Given the description of an element on the screen output the (x, y) to click on. 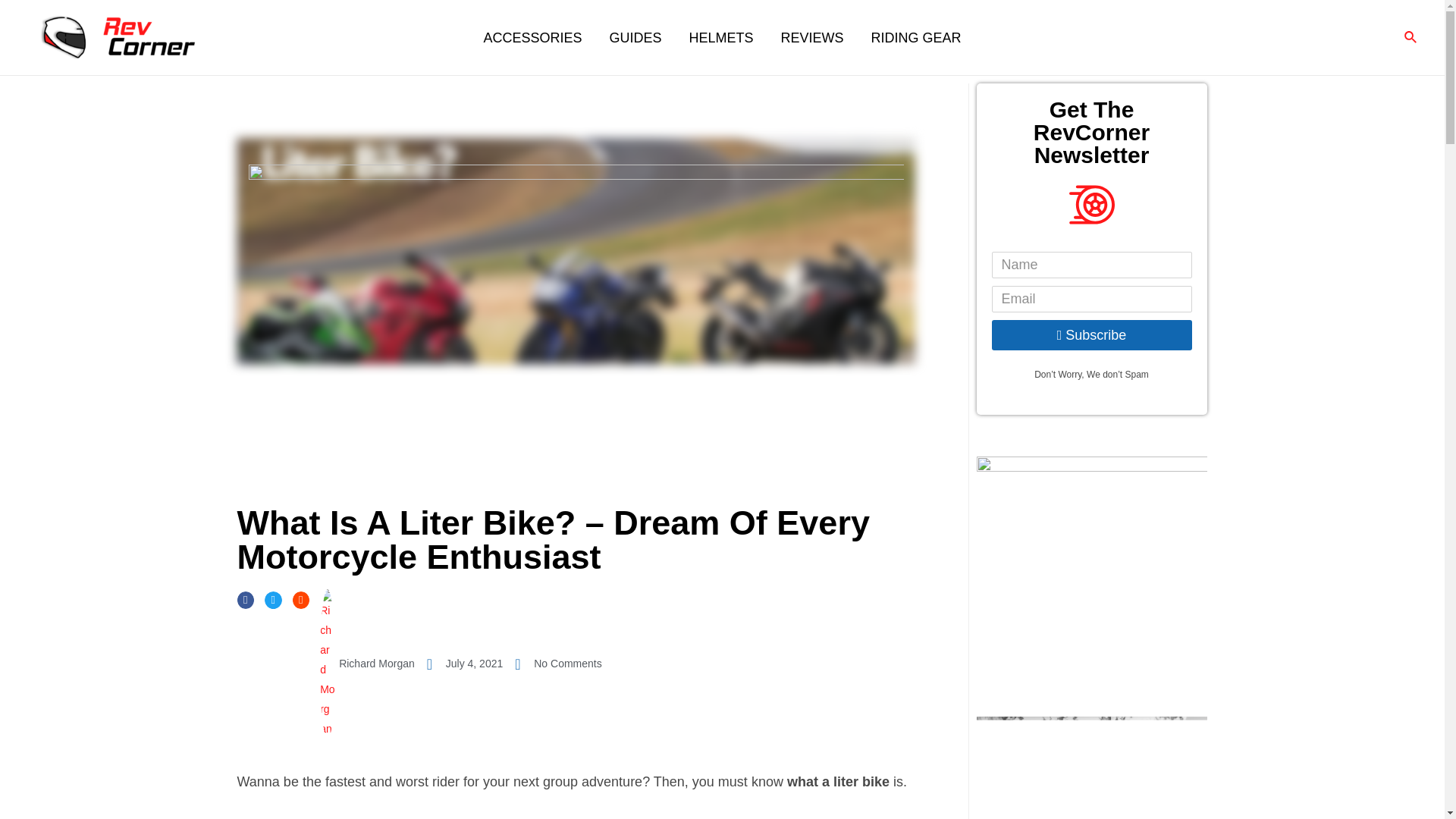
ACCESSORIES (531, 36)
REVIEWS (812, 36)
RIDING GEAR (916, 36)
HELMETS (721, 36)
GUIDES (635, 36)
Subscribe (1091, 335)
July 4, 2021 (464, 664)
No Comments (558, 664)
